Given the description of an element on the screen output the (x, y) to click on. 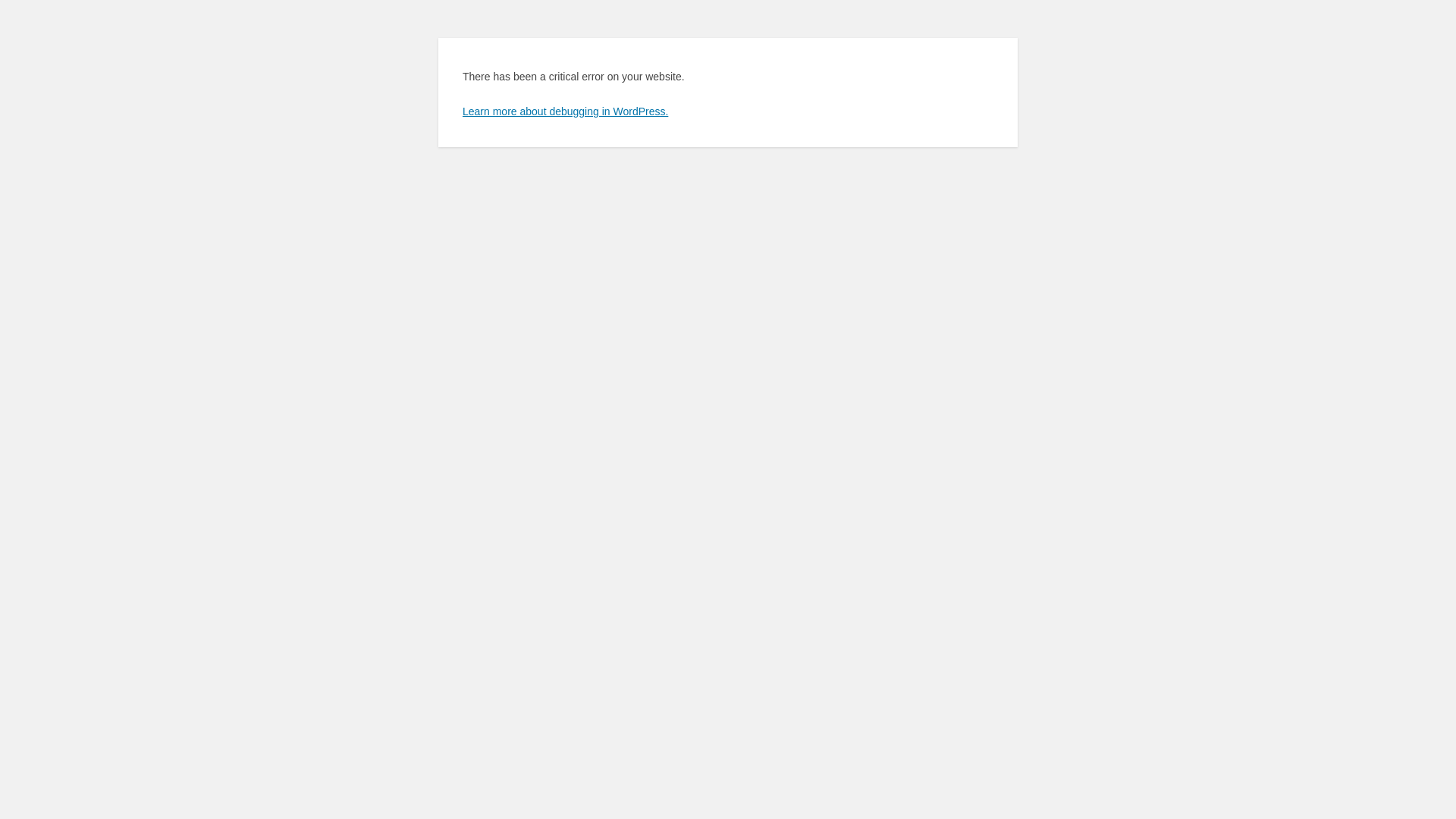
Learn more about debugging in WordPress. Element type: text (565, 111)
